Given the description of an element on the screen output the (x, y) to click on. 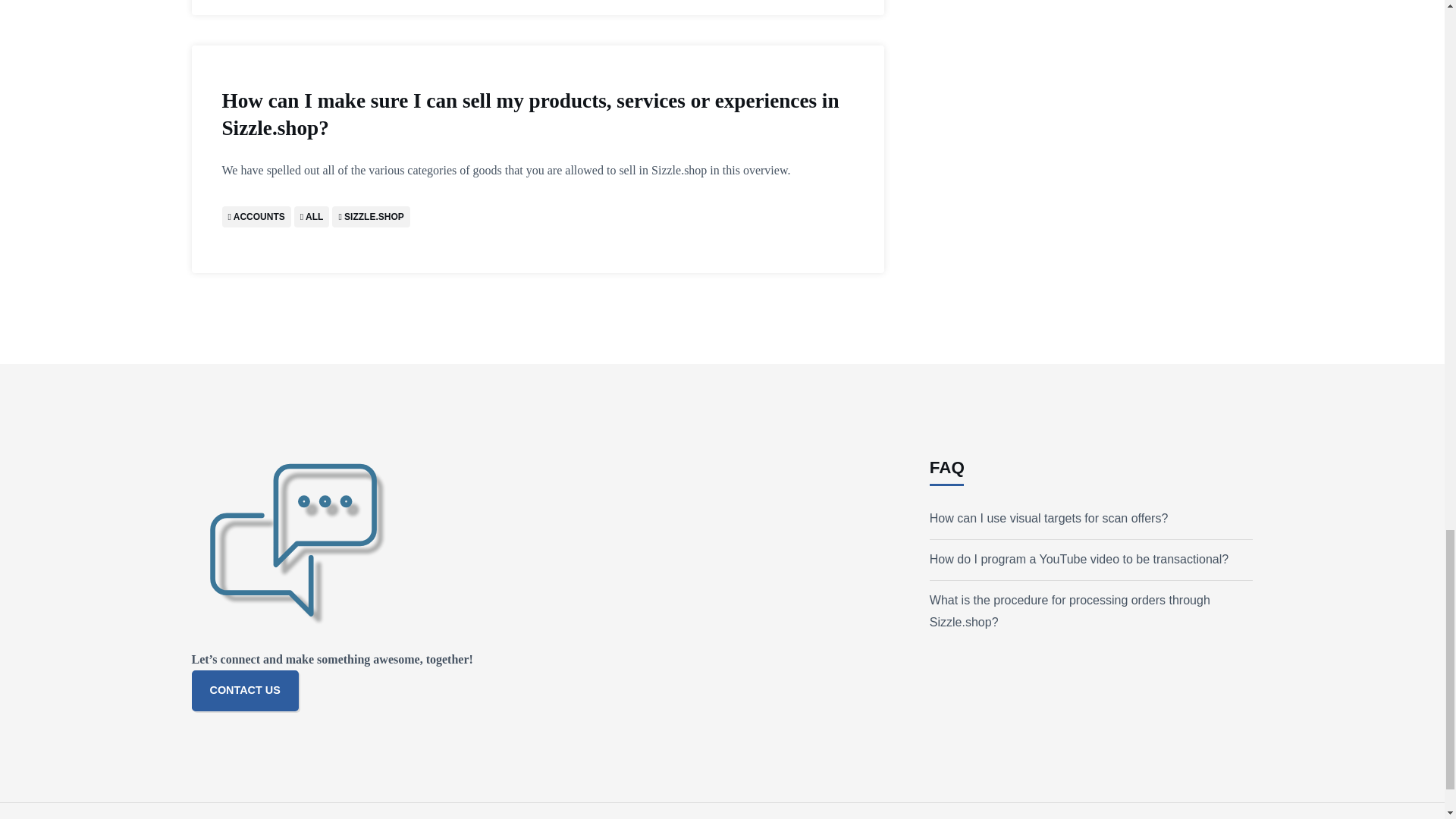
CONTACT US (244, 690)
How can I use visual targets for scan offers? (1049, 517)
How do I program a YouTube video to be transactional? (1079, 558)
